Given the description of an element on the screen output the (x, y) to click on. 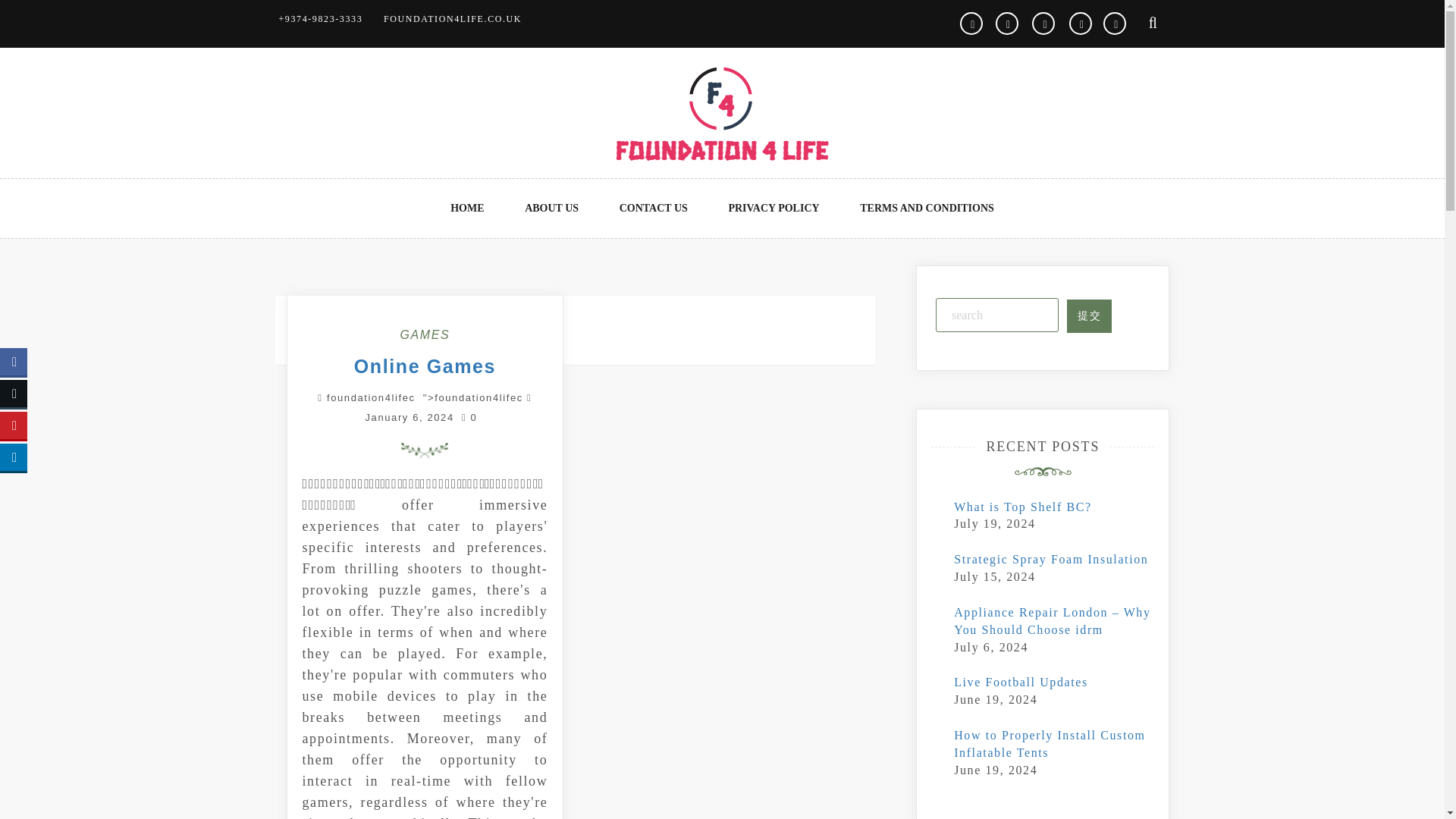
foundation4lifec (370, 397)
TERMS AND CONDITIONS (926, 208)
FOUNDATION4LIFE.CO.UK (452, 18)
GAMES (424, 334)
ABOUT US (551, 208)
PRIVACY POLICY (773, 208)
January 6, 2024 (408, 417)
Live Football Updates (1020, 681)
How to Properly Install Custom Inflatable Tents (1048, 743)
HOME (467, 208)
Strategic Spray Foam Insulation (1050, 558)
Online Games (424, 365)
CONTACT US (653, 208)
0 (469, 417)
What is Top Shelf BC? (1022, 506)
